Given the description of an element on the screen output the (x, y) to click on. 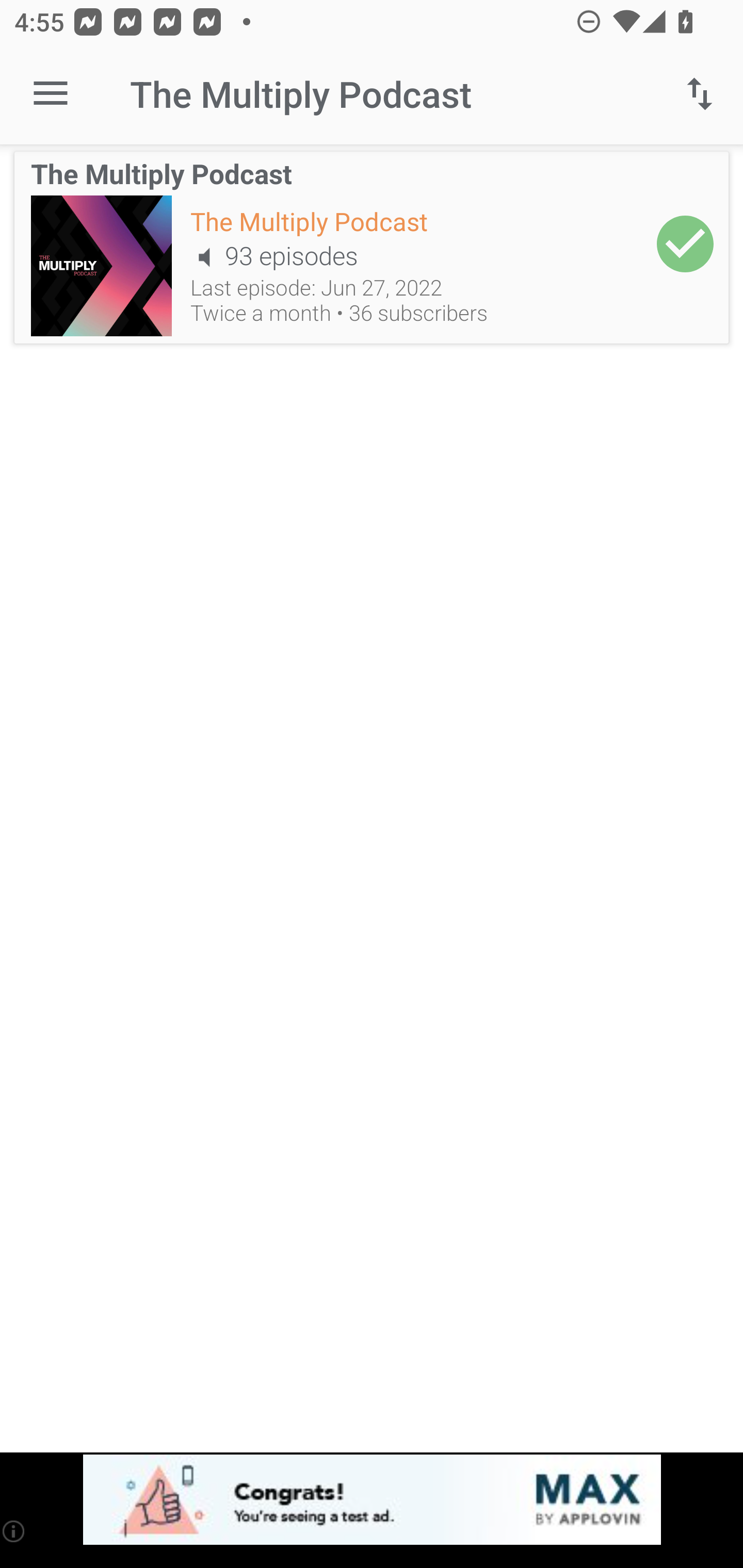
Open navigation sidebar (50, 93)
Sort (699, 93)
Add (684, 243)
app-monetization (371, 1500)
(i) (14, 1531)
